Given the description of an element on the screen output the (x, y) to click on. 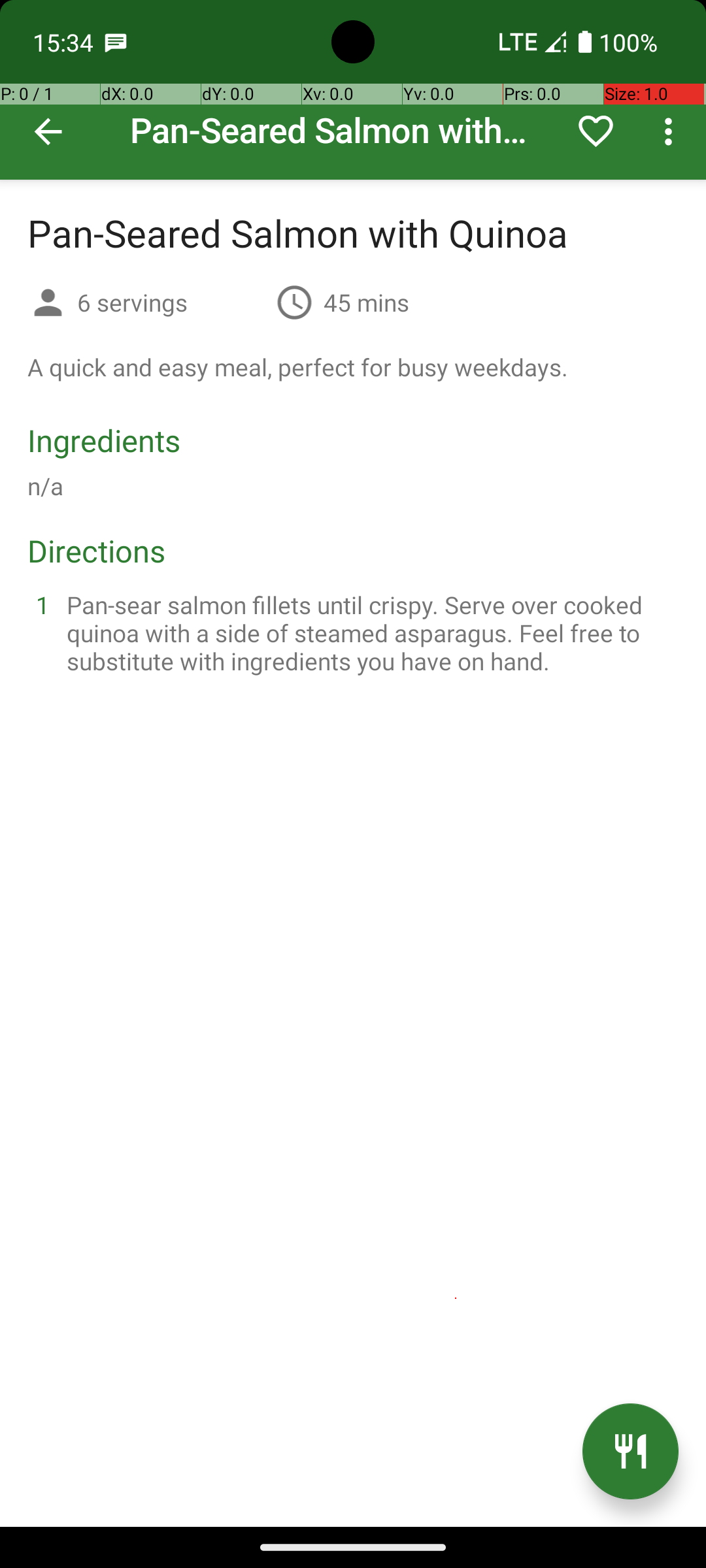
Pan-Seared Salmon with Quinoa Element type: android.widget.FrameLayout (353, 89)
Pan-sear salmon fillets until crispy. Serve over cooked quinoa with a side of steamed asparagus. Feel free to substitute with ingredients you have on hand. Element type: android.widget.TextView (368, 632)
